Given the description of an element on the screen output the (x, y) to click on. 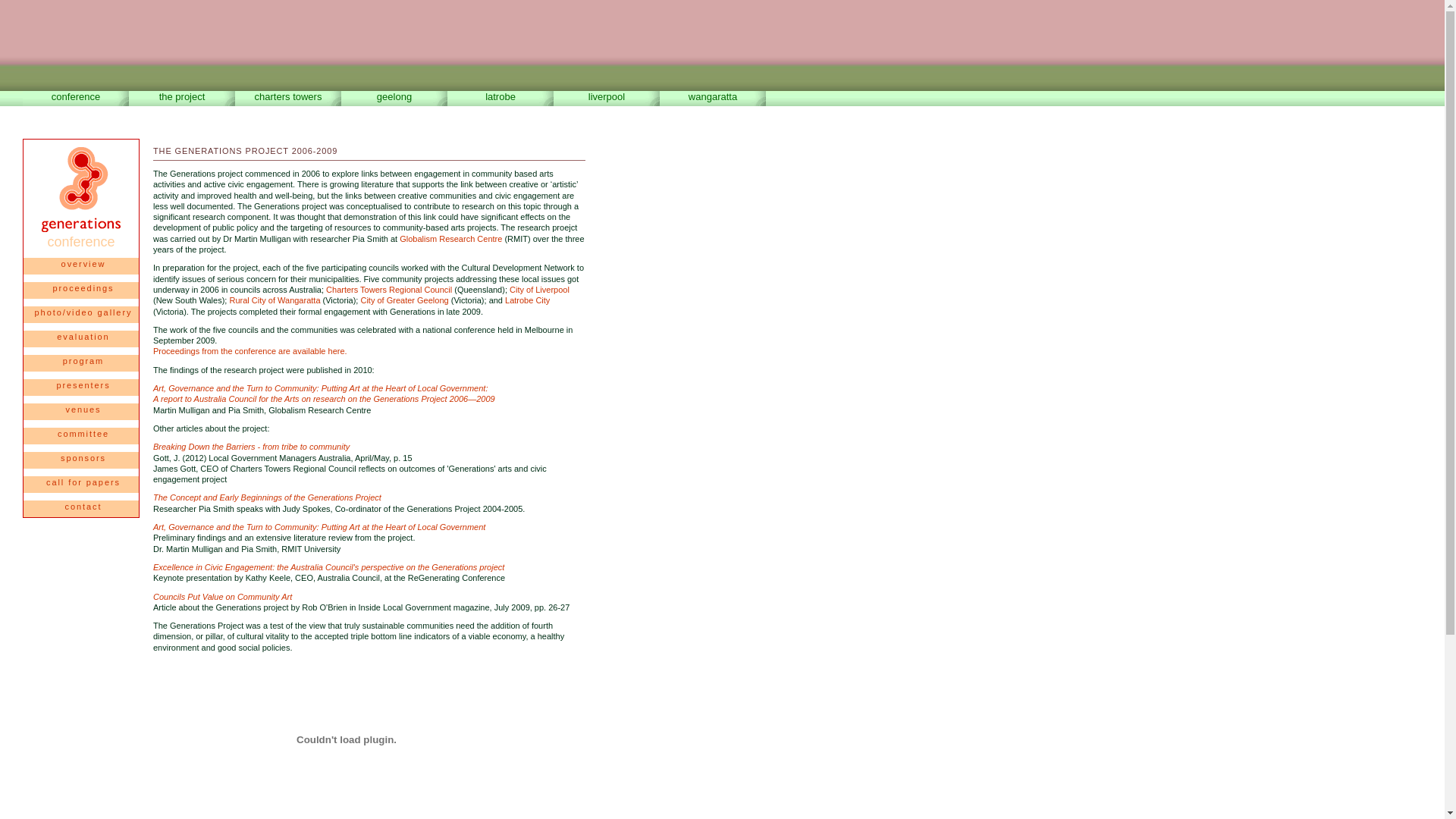
call for papers Element type: text (80, 484)
sponsors Element type: text (80, 459)
City of Greater Geelong Element type: text (404, 299)
Globalism Research Centre Element type: text (450, 238)
City of Liverpool Element type: text (539, 289)
presenters Element type: text (80, 387)
liverpool Element type: text (606, 98)
Councils Put Value on Community Art Element type: text (222, 595)
Rural City of Wangaratta Element type: text (274, 299)
committee Element type: text (80, 435)
conference Element type: text (75, 98)
geelong Element type: text (394, 98)
overview Element type: text (80, 265)
Breaking Down the Barriers - from tribe to community Element type: text (251, 446)
charters towers Element type: text (288, 98)
the project Element type: text (181, 98)
The Concept and Early Beginnings of the Generations Project Element type: text (267, 497)
Latrobe City Element type: text (527, 299)
Charters Towers Regional Council Element type: text (388, 289)
latrobe Element type: text (500, 98)
proceedings Element type: text (80, 290)
evaluation Element type: text (80, 338)
photo/video gallery Element type: text (80, 314)
Proceedings from the conference are available here. Element type: text (250, 350)
venues Element type: text (80, 411)
contact Element type: text (80, 508)
wangaratta Element type: text (712, 98)
program Element type: text (80, 362)
